Given the description of an element on the screen output the (x, y) to click on. 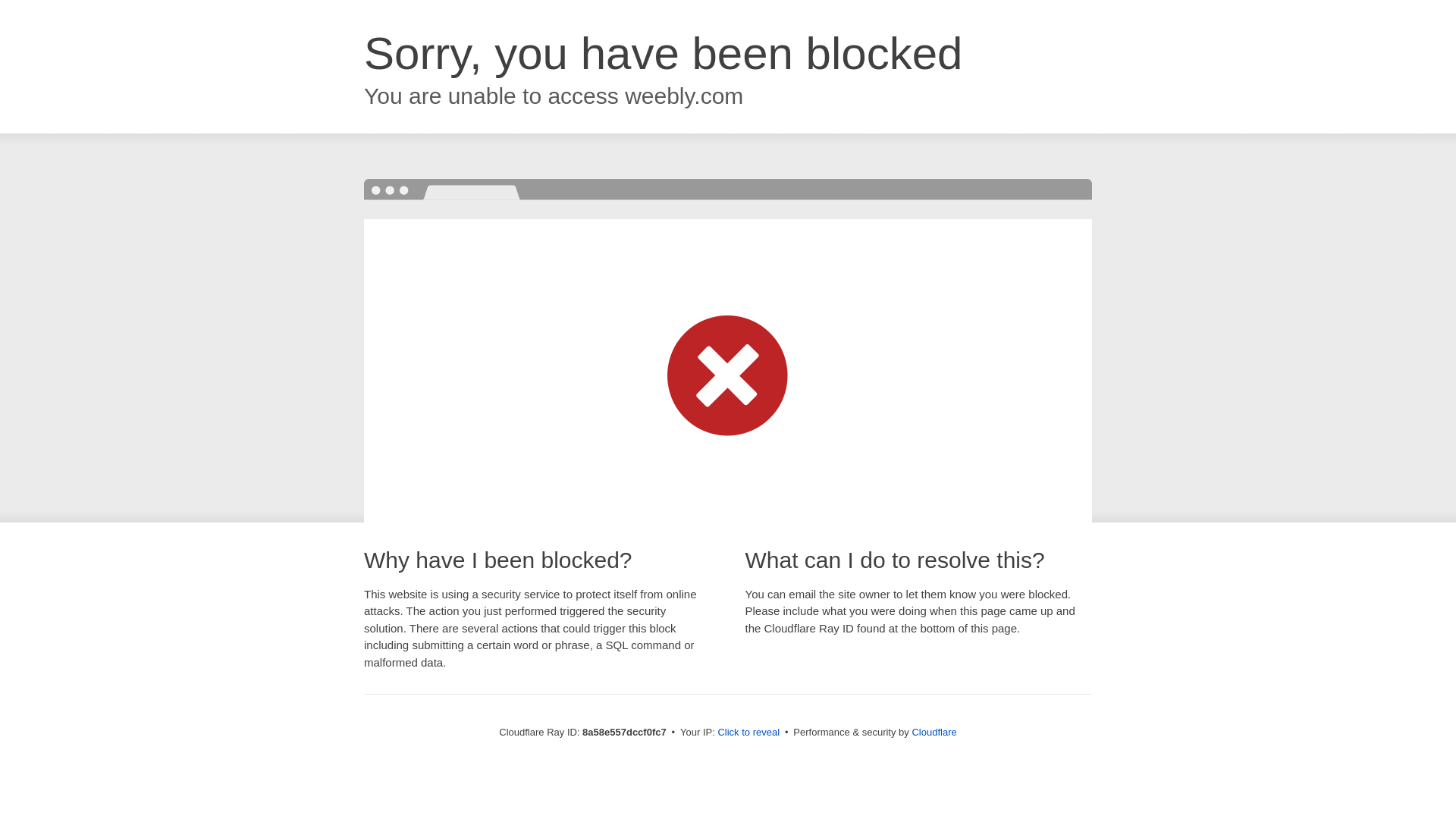
Cloudflare (933, 731)
Click to reveal (747, 732)
